Given the description of an element on the screen output the (x, y) to click on. 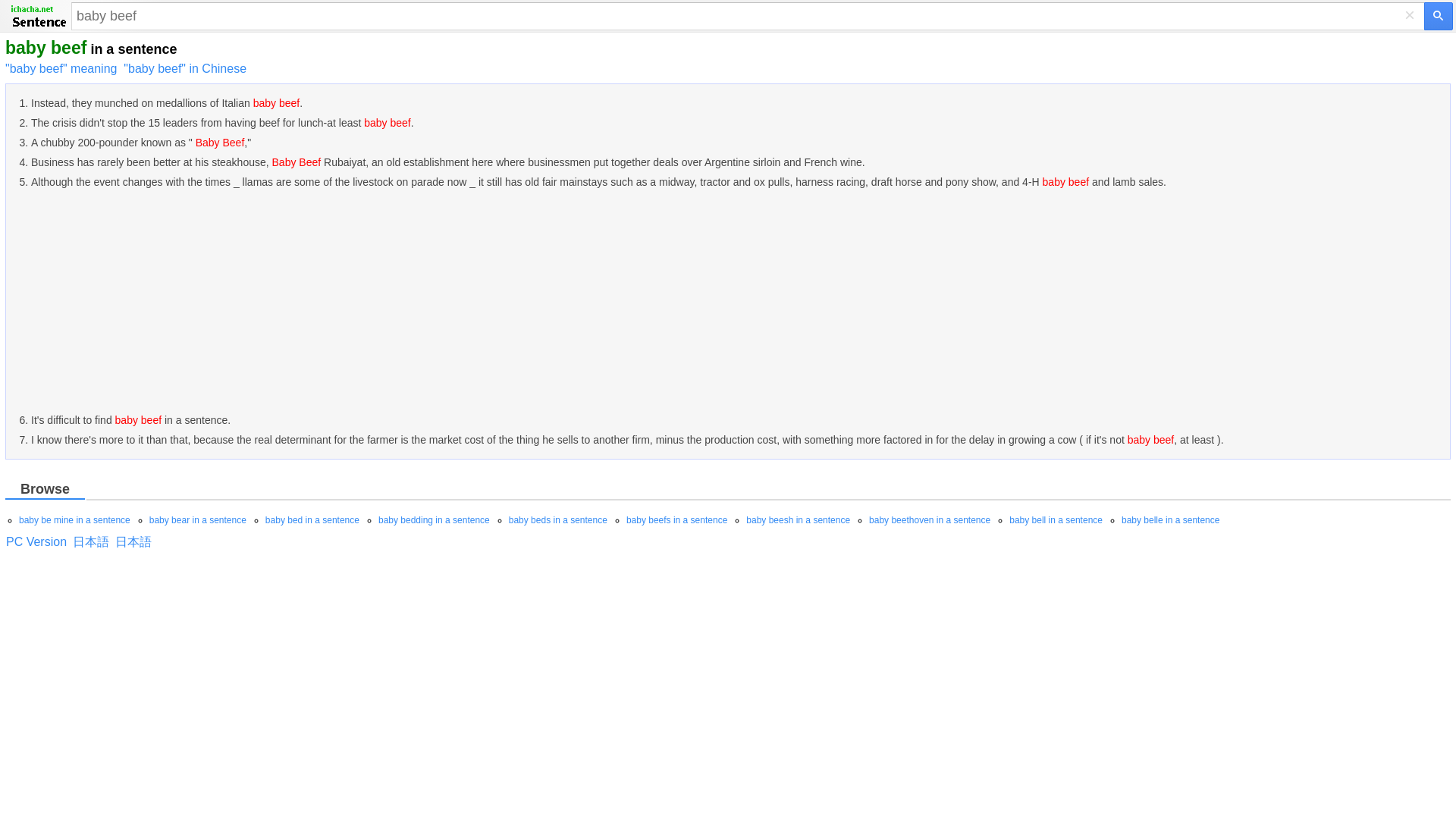
baby beds in a sentence (557, 520)
baby beesh in a sentence (797, 520)
baby be mine in a sentence (74, 520)
"baby beef" in Chinese (184, 68)
baby bed in a sentence (311, 520)
baby belle in a sentence (1170, 520)
baby bedding in a sentence (433, 520)
baby bell in a sentence (1055, 520)
"baby beef" meaning (60, 68)
